Given the description of an element on the screen output the (x, y) to click on. 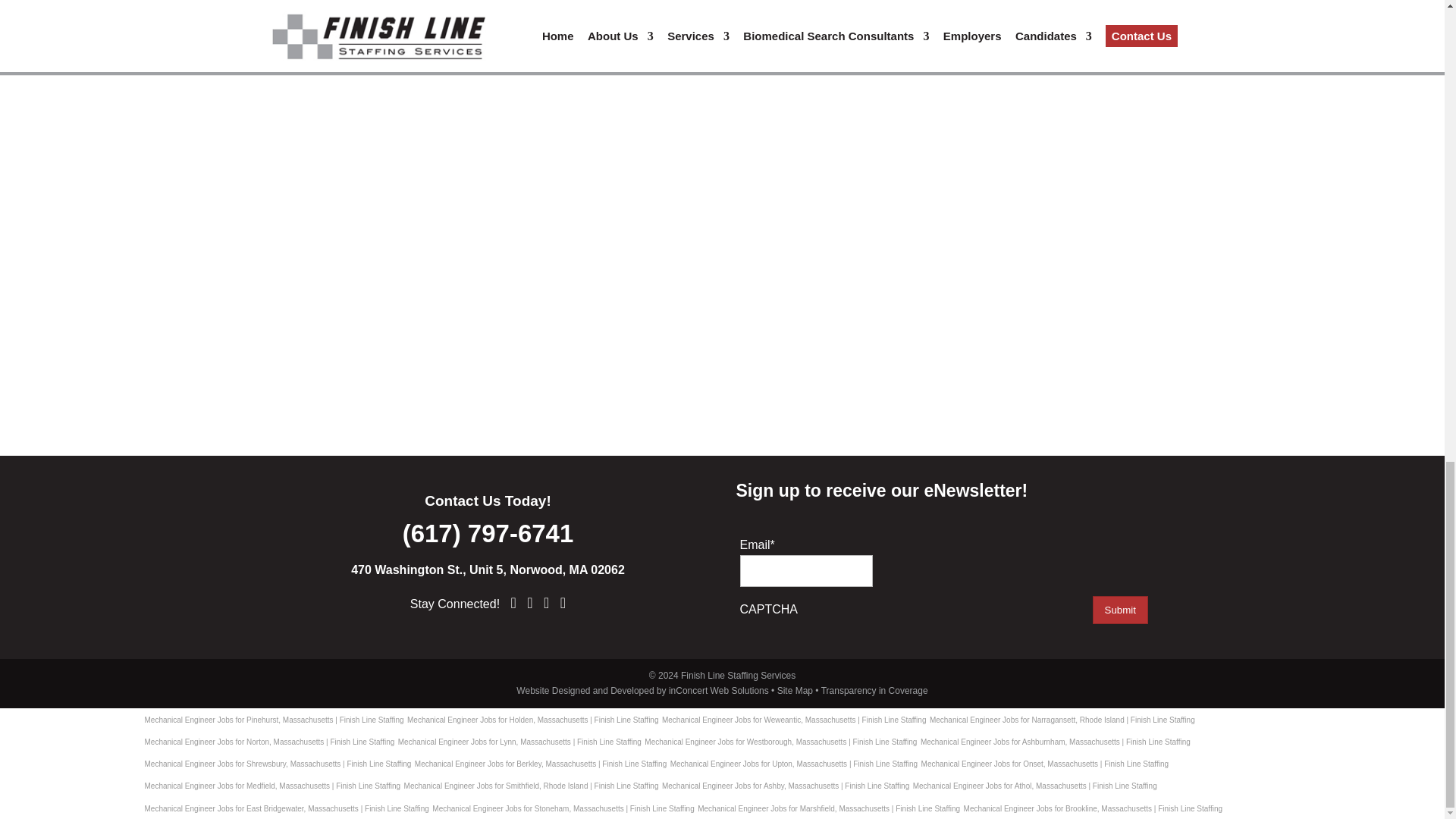
Submit (1120, 610)
